Given the description of an element on the screen output the (x, y) to click on. 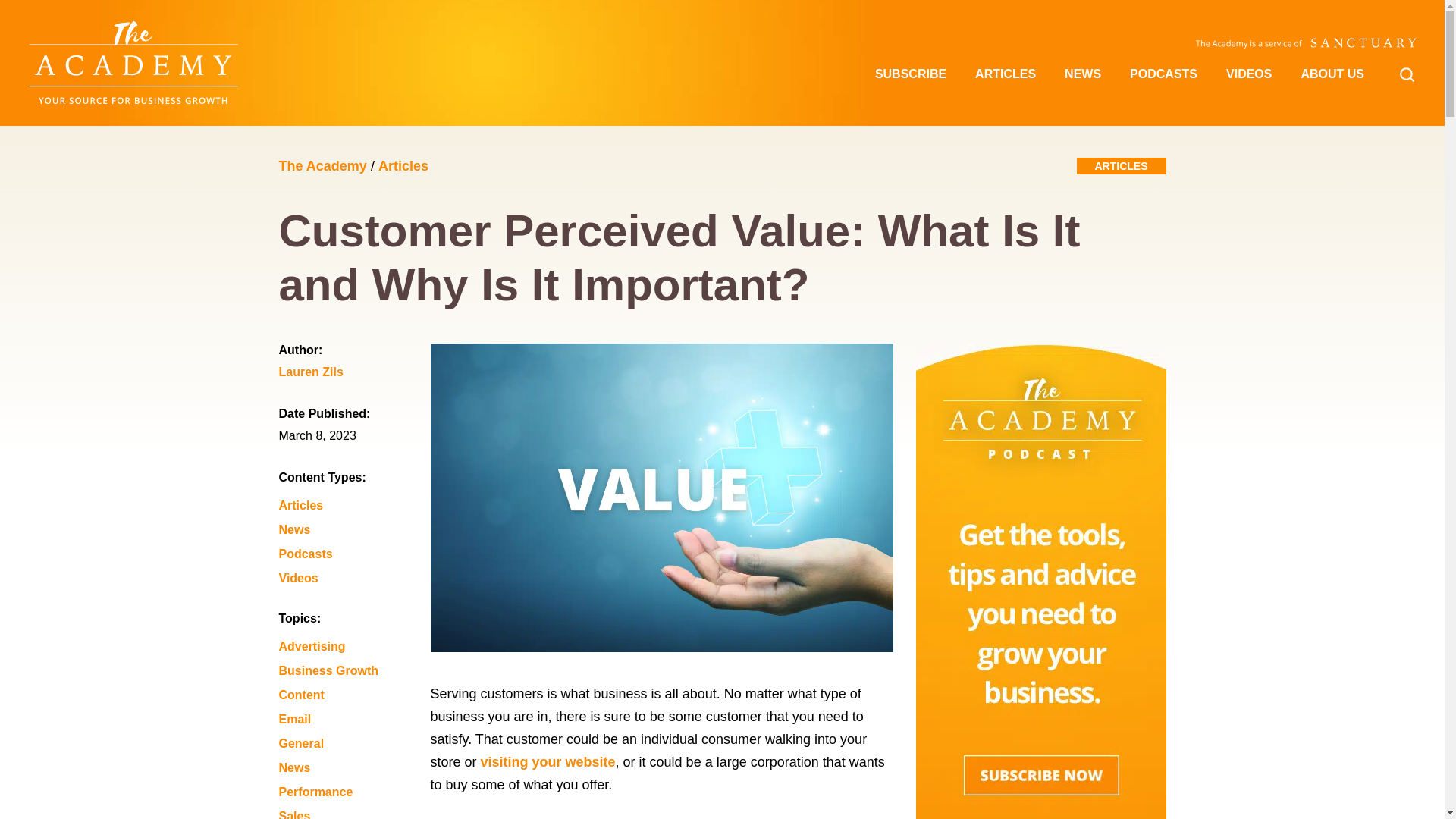
General (351, 743)
SUBSCRIBE (910, 74)
visiting your website (547, 761)
Advertising (351, 646)
Posts by Lauren Zils (351, 375)
Articles (403, 165)
Videos (351, 578)
Performance (351, 792)
Email (351, 719)
Content (351, 695)
